Given the description of an element on the screen output the (x, y) to click on. 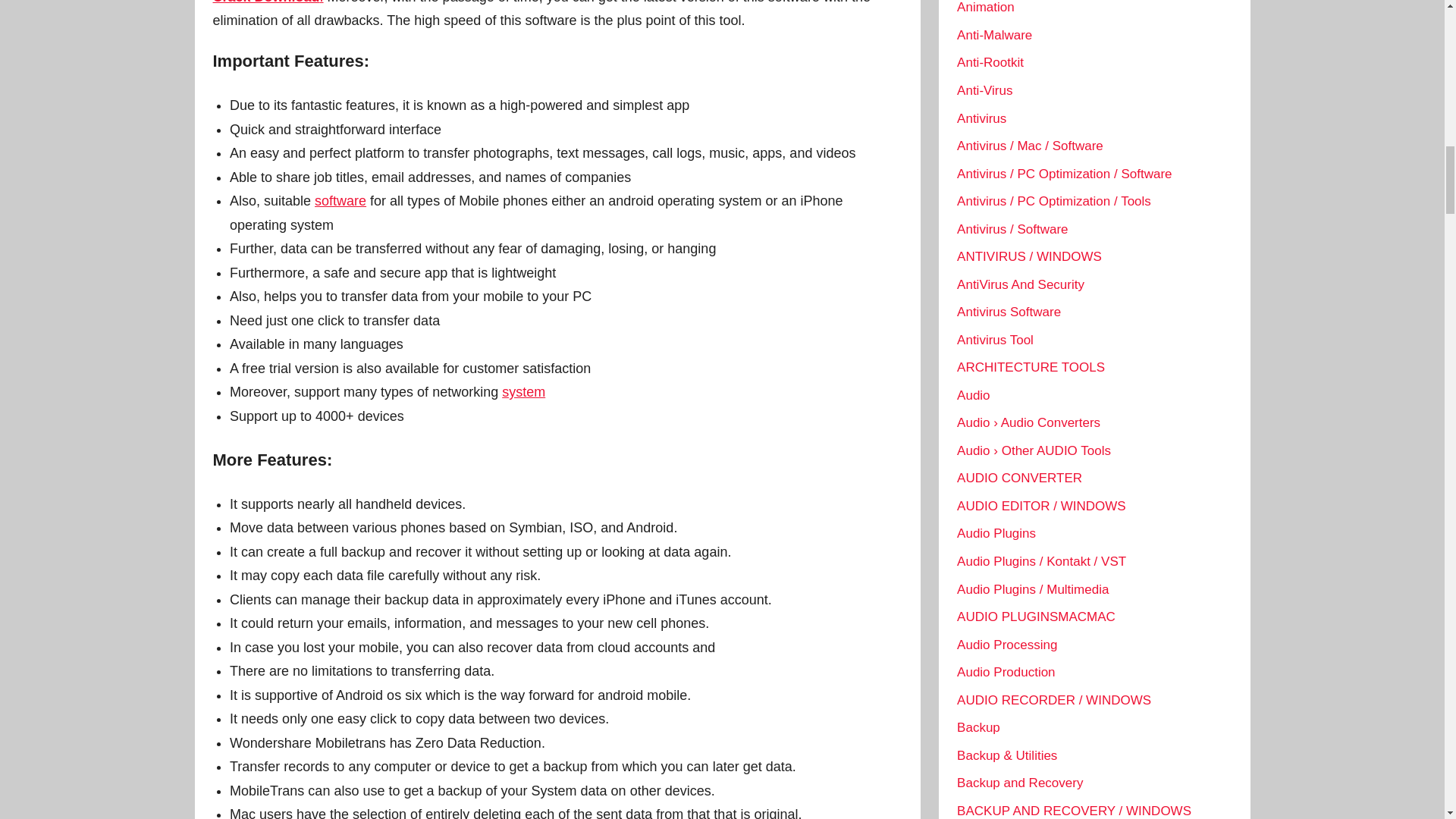
software (340, 200)
system (523, 391)
